Given the description of an element on the screen output the (x, y) to click on. 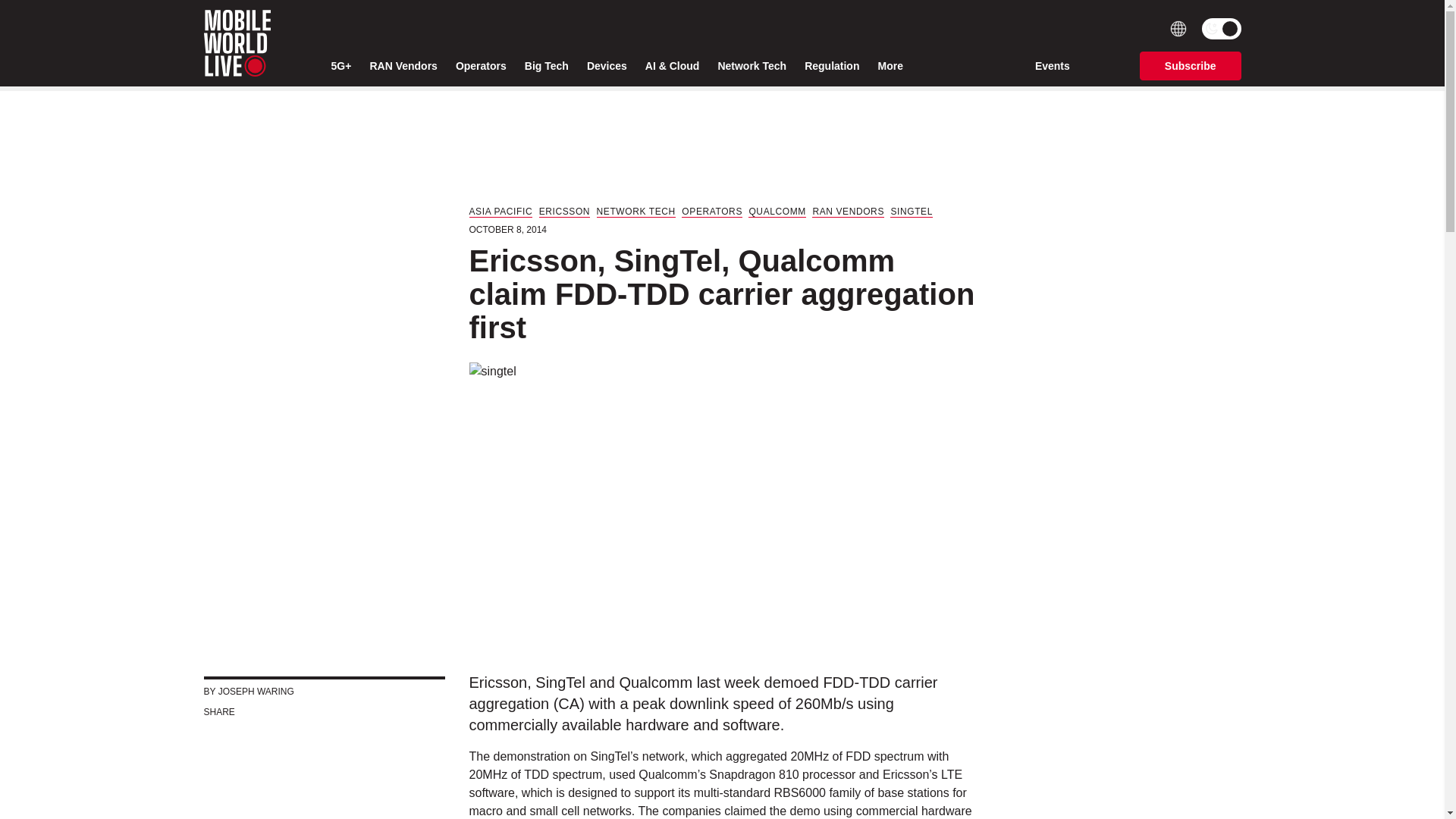
Network Tech (751, 65)
Events (1052, 65)
Regulation (832, 65)
Devices (606, 65)
Operators (480, 65)
Big Tech (546, 65)
RAN Vendors (402, 65)
Subscribe (1190, 65)
